Given the description of an element on the screen output the (x, y) to click on. 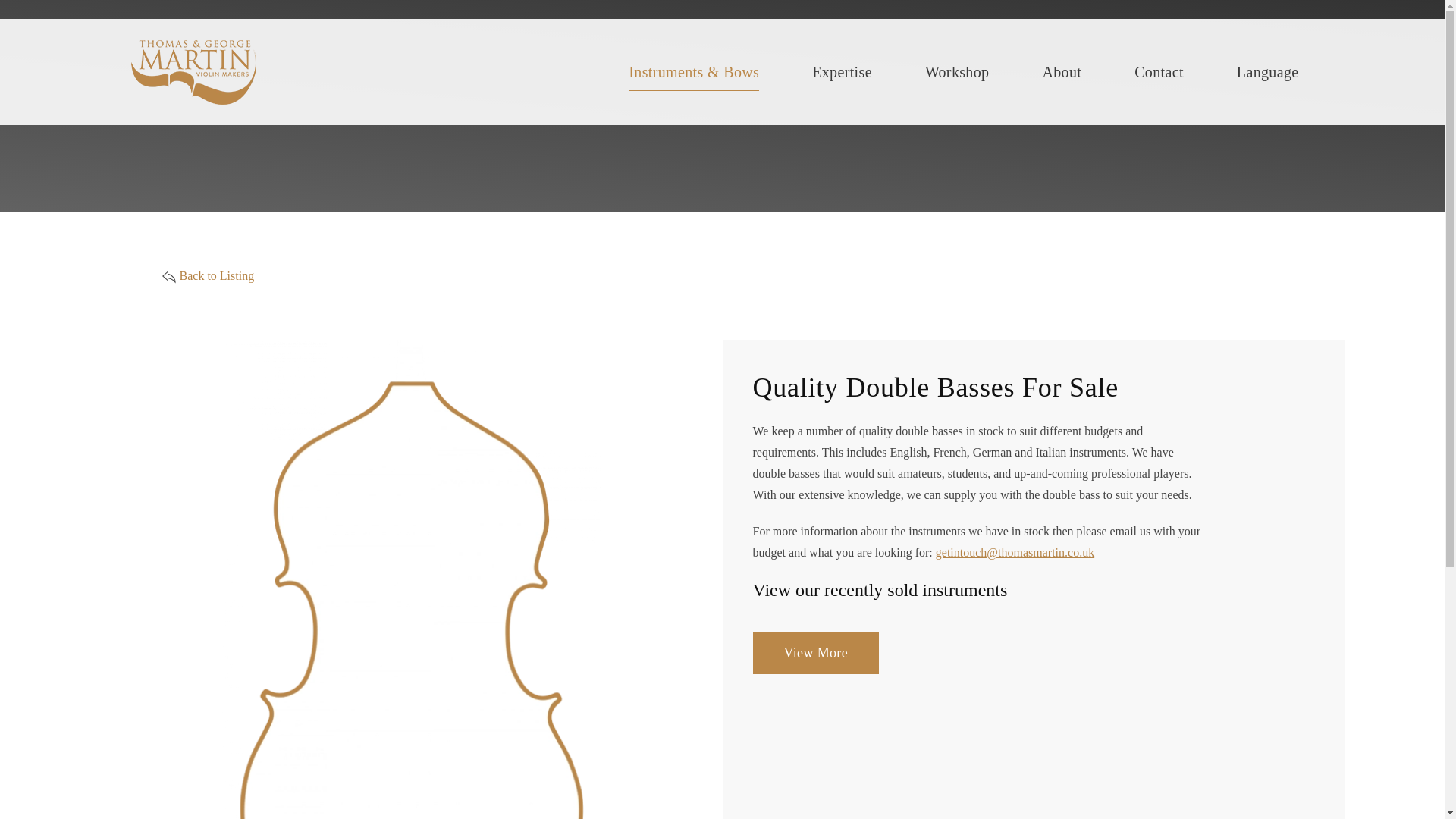
About (1061, 71)
Workshop (957, 71)
Expertise (841, 71)
Return to Old Double Basses for Sale (216, 275)
Contact (1158, 71)
